Given the description of an element on the screen output the (x, y) to click on. 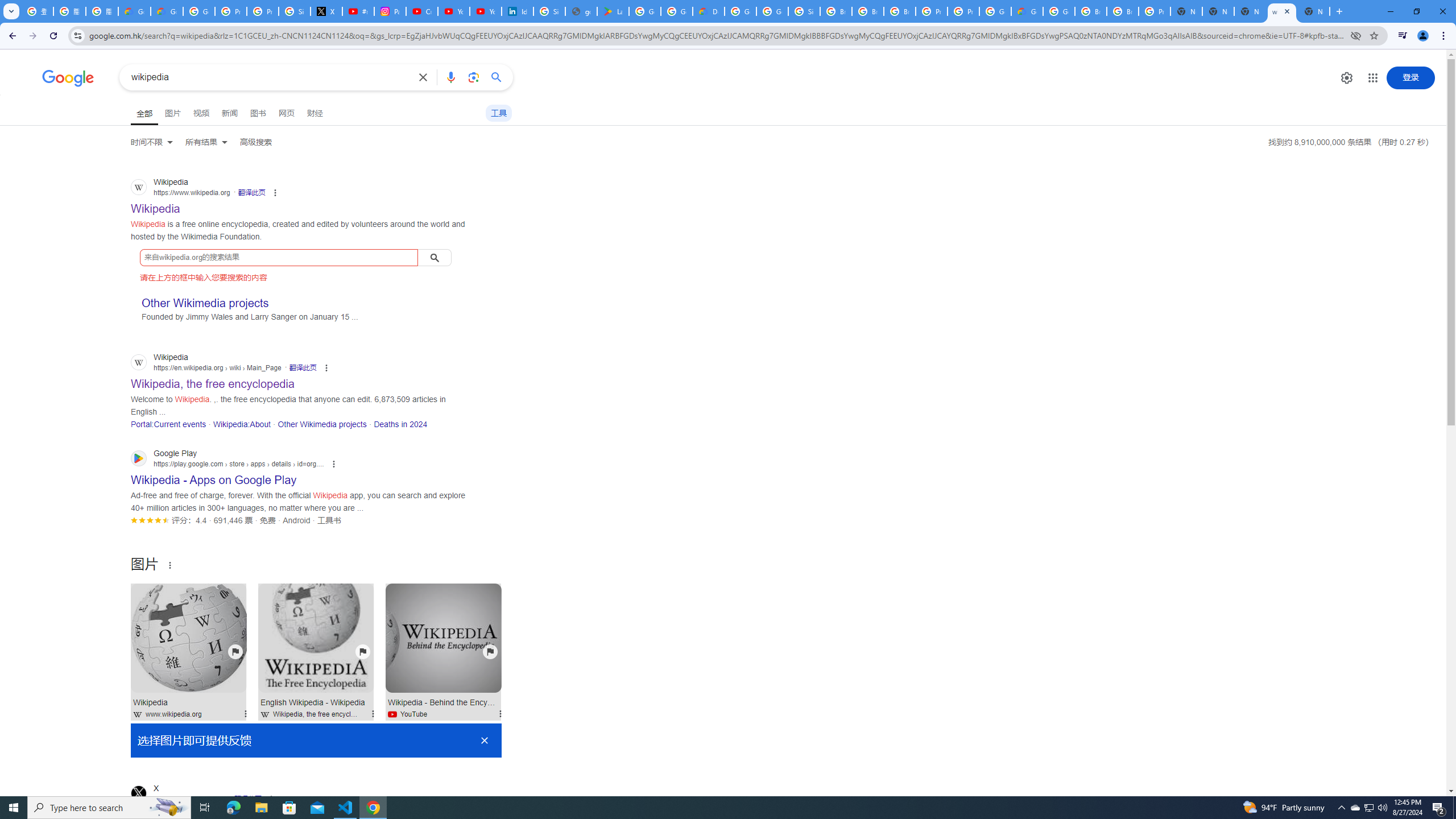
YouTube Culture & Trends - YouTube Top 10, 2021 (485, 11)
Browse Chrome as a guest - Computer - Google Chrome Help (1091, 11)
Browse Chrome as a guest - Computer - Google Chrome Help (899, 11)
Sign in - Google Accounts (549, 11)
